Given the description of an element on the screen output the (x, y) to click on. 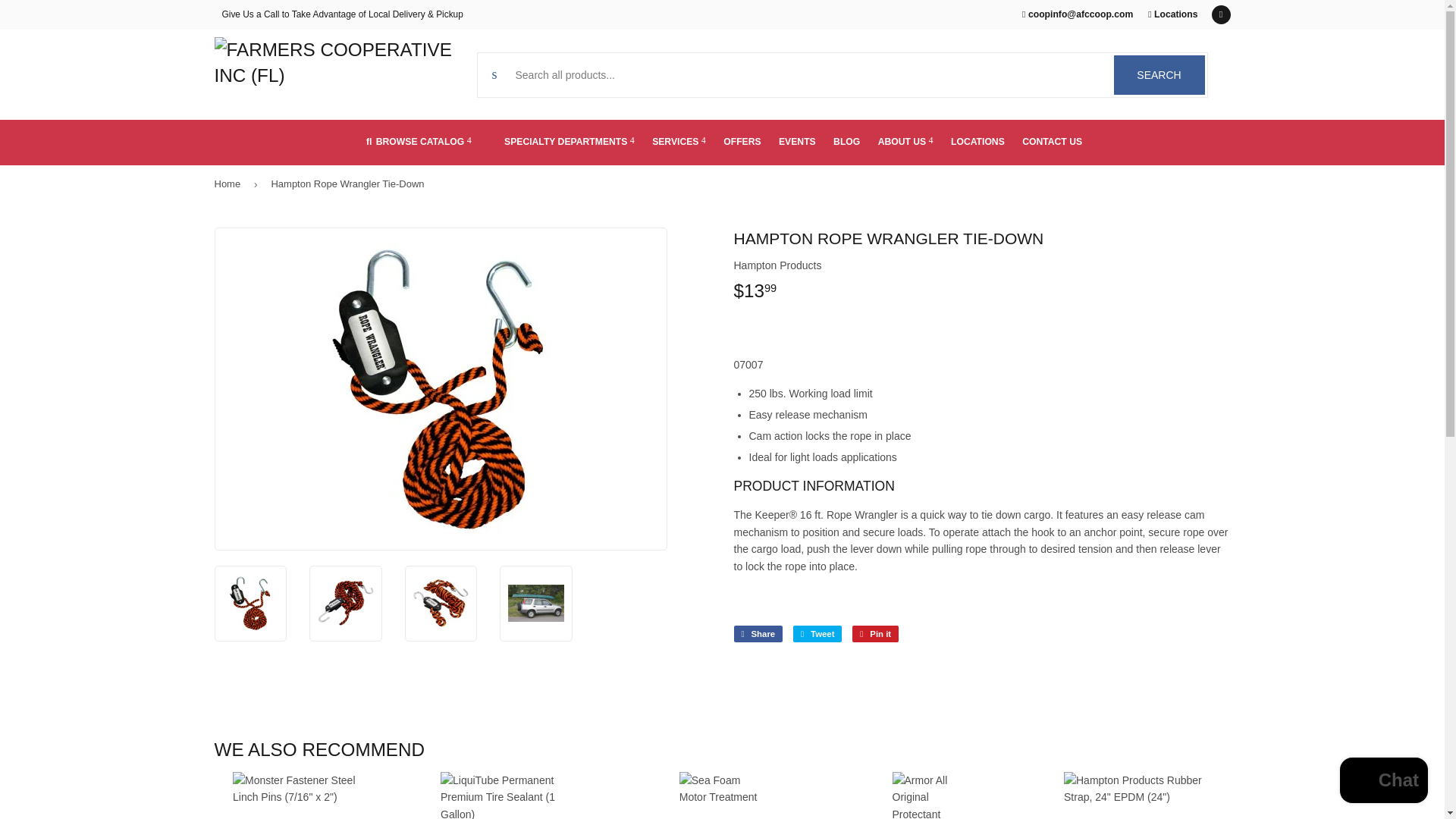
Tweet on Twitter (817, 633)
Facebook (1220, 14)
Open Product Zoom (441, 388)
Pin on Pinterest (1158, 75)
 Locations (874, 633)
Shopify online store chat (1172, 14)
Share on Facebook (1383, 781)
